Given the description of an element on the screen output the (x, y) to click on. 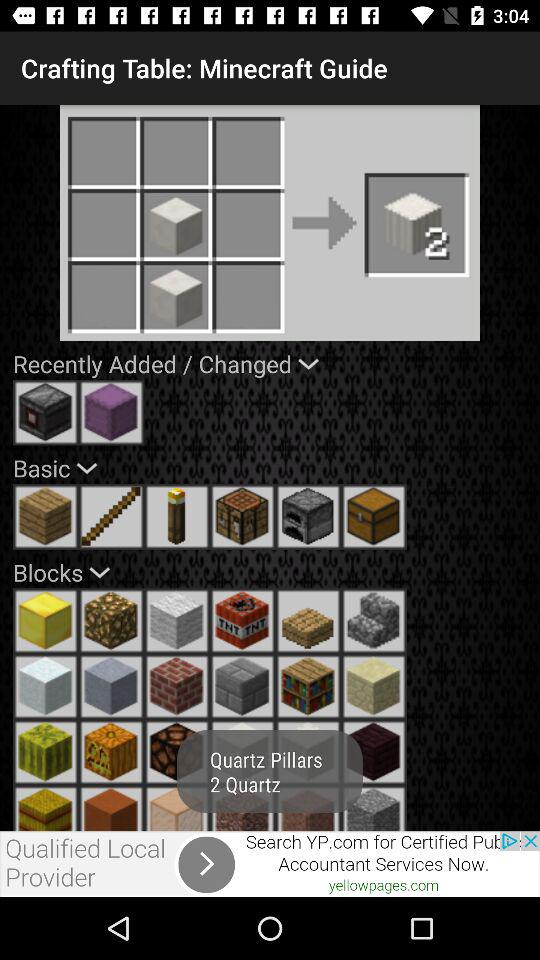
select the block (373, 808)
